Given the description of an element on the screen output the (x, y) to click on. 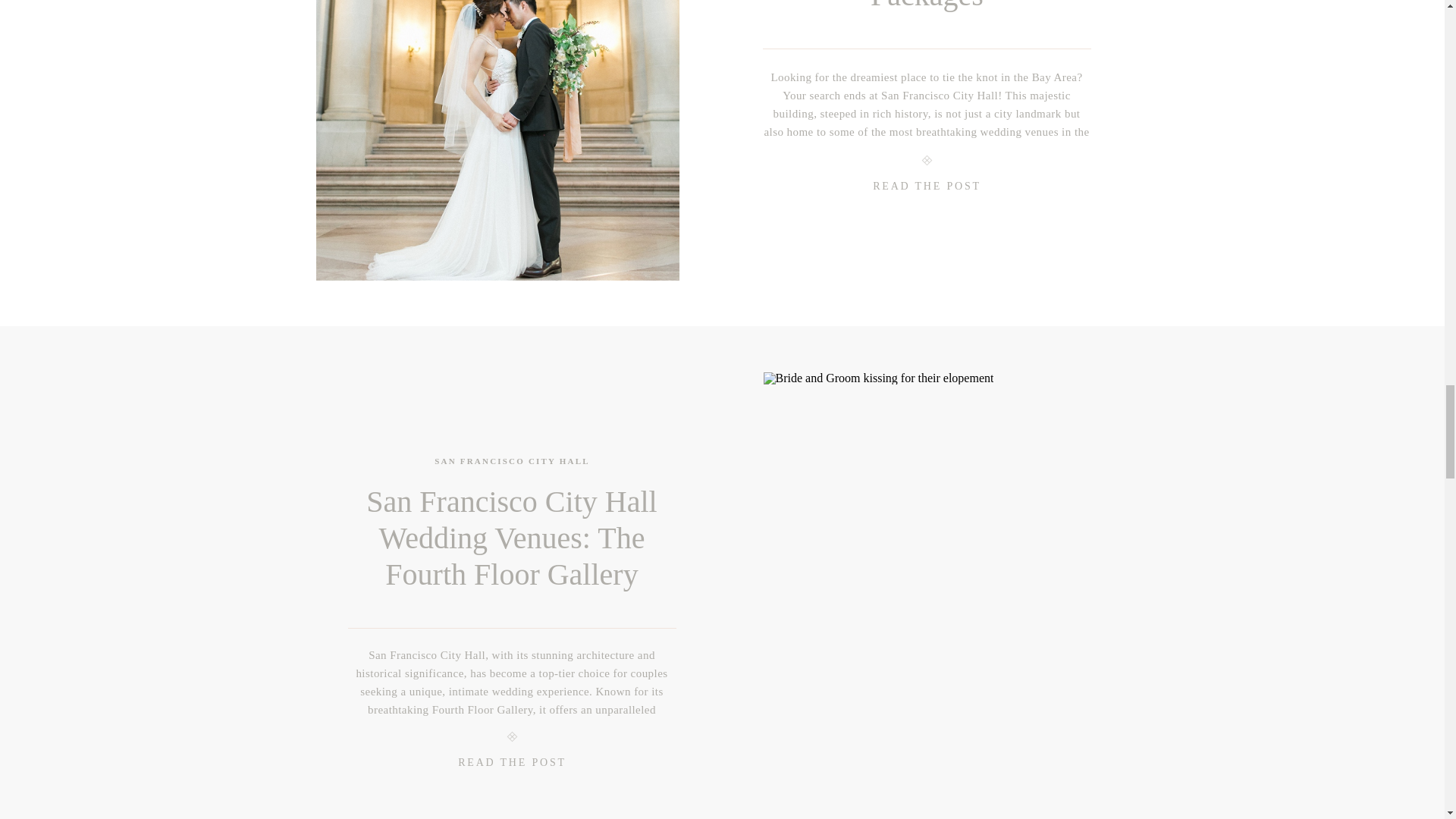
San Francisco City Hall Wedding Ceremony Packages (496, 140)
San Francisco City Hall Wedding Ceremony Packages (926, 189)
San Francisco City Hall Wedding Ceremony Packages (926, 6)
